Given the description of an element on the screen output the (x, y) to click on. 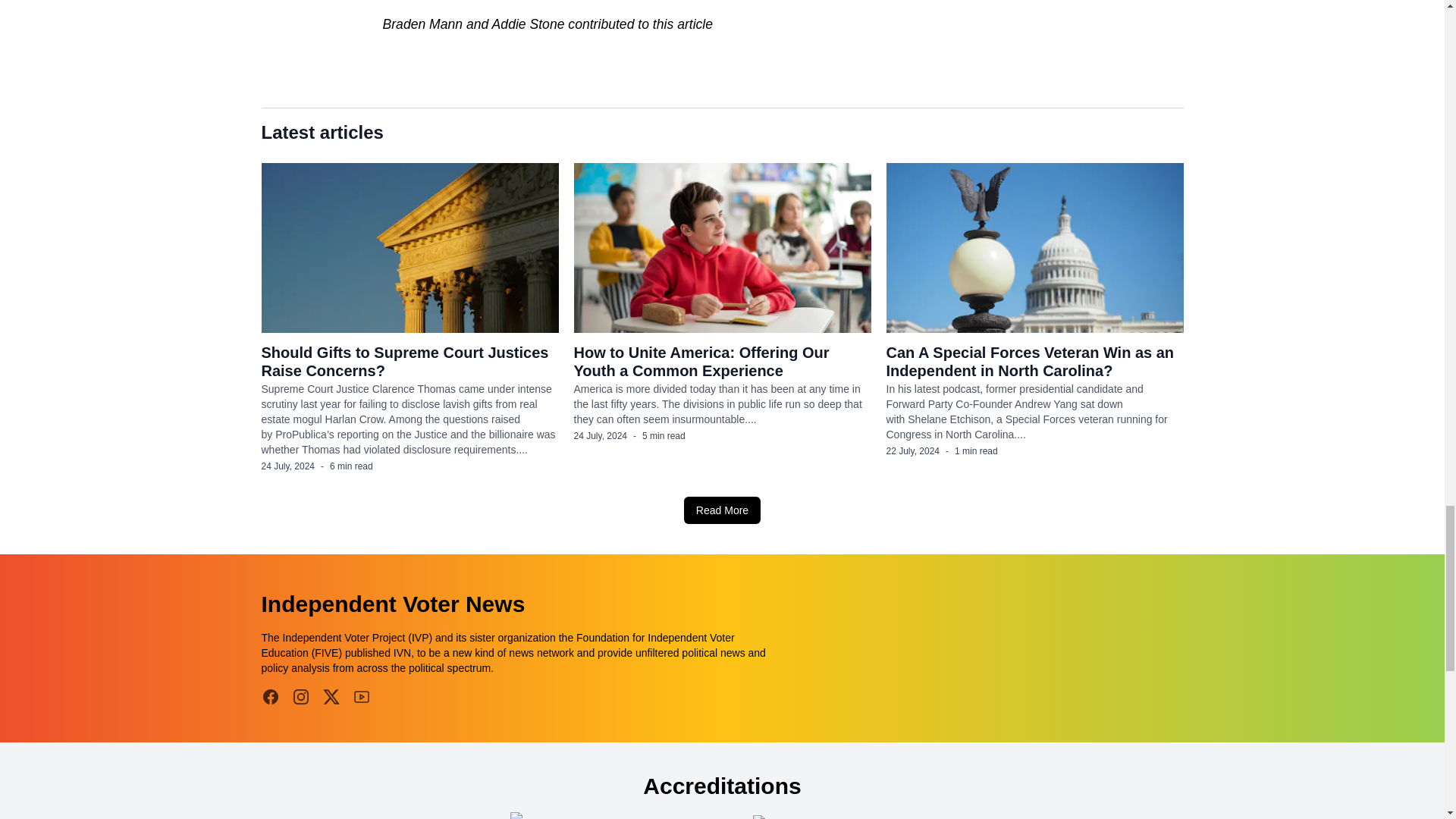
How to Unite America: Offering Our Youth a Common Experience (700, 361)
Should Gifts to Supreme Court Justices Raise Concerns? (404, 361)
Read More (722, 510)
